Given the description of an element on the screen output the (x, y) to click on. 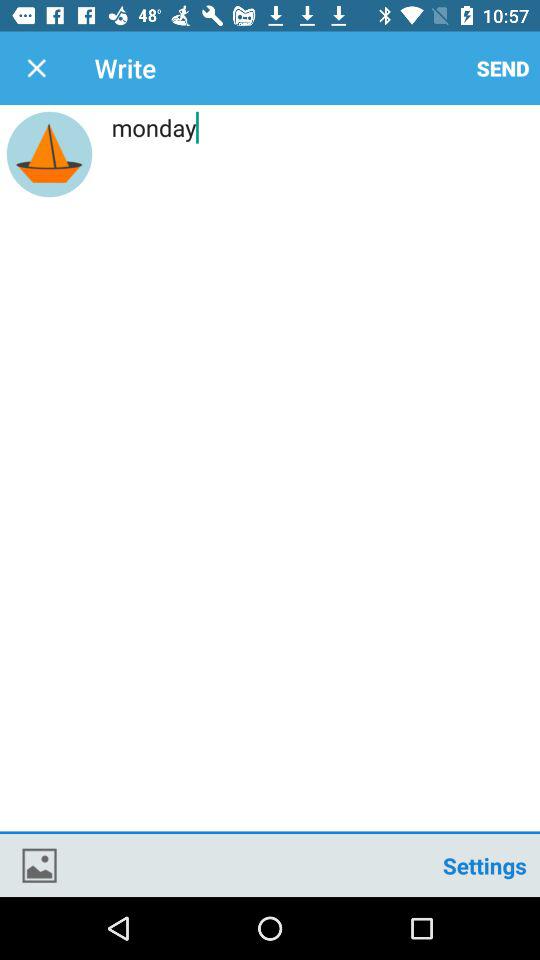
turn on the icon next to the write item (36, 68)
